Given the description of an element on the screen output the (x, y) to click on. 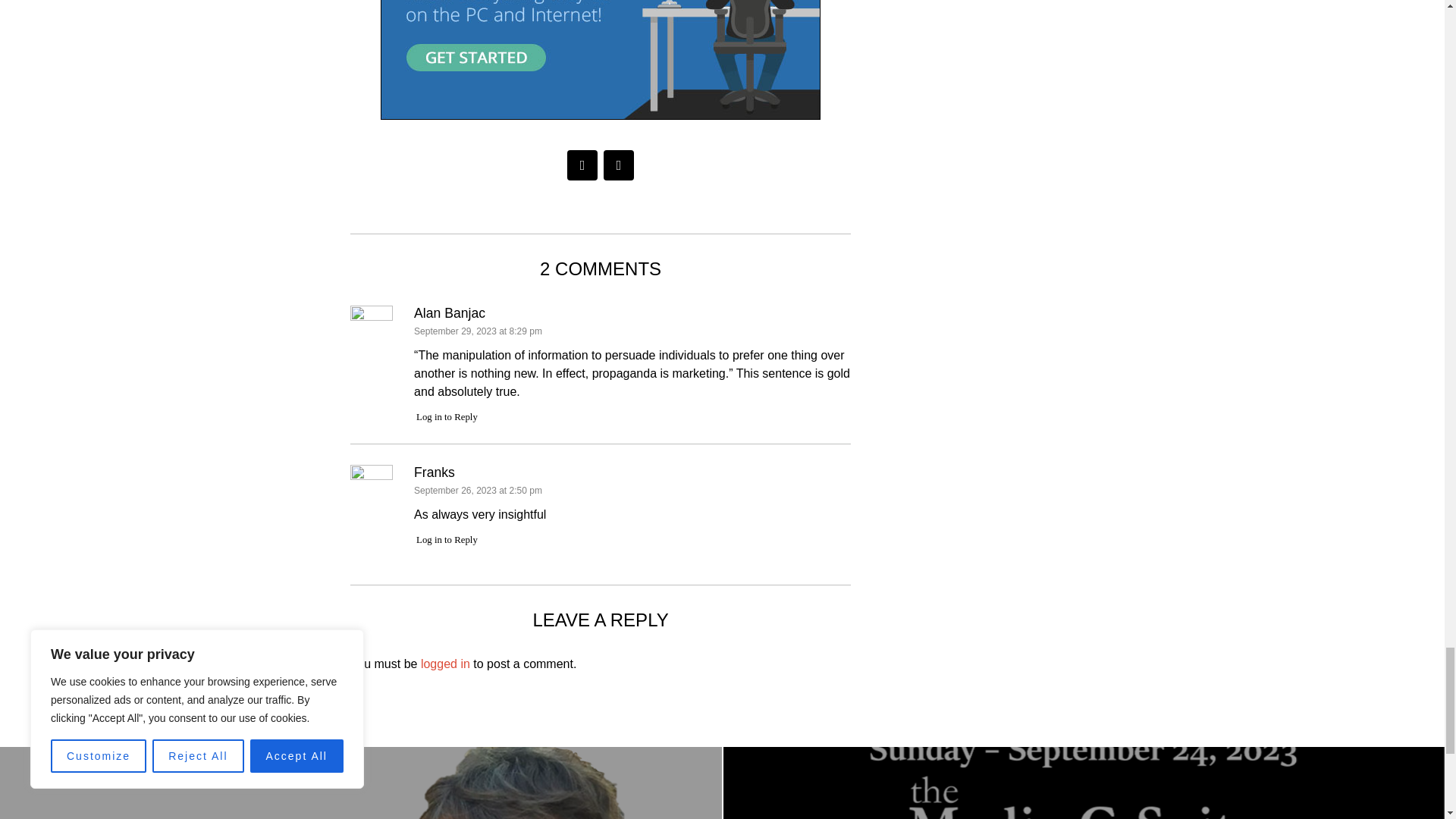
September 29, 2023 at 8:29 pm (477, 330)
